Given the description of an element on the screen output the (x, y) to click on. 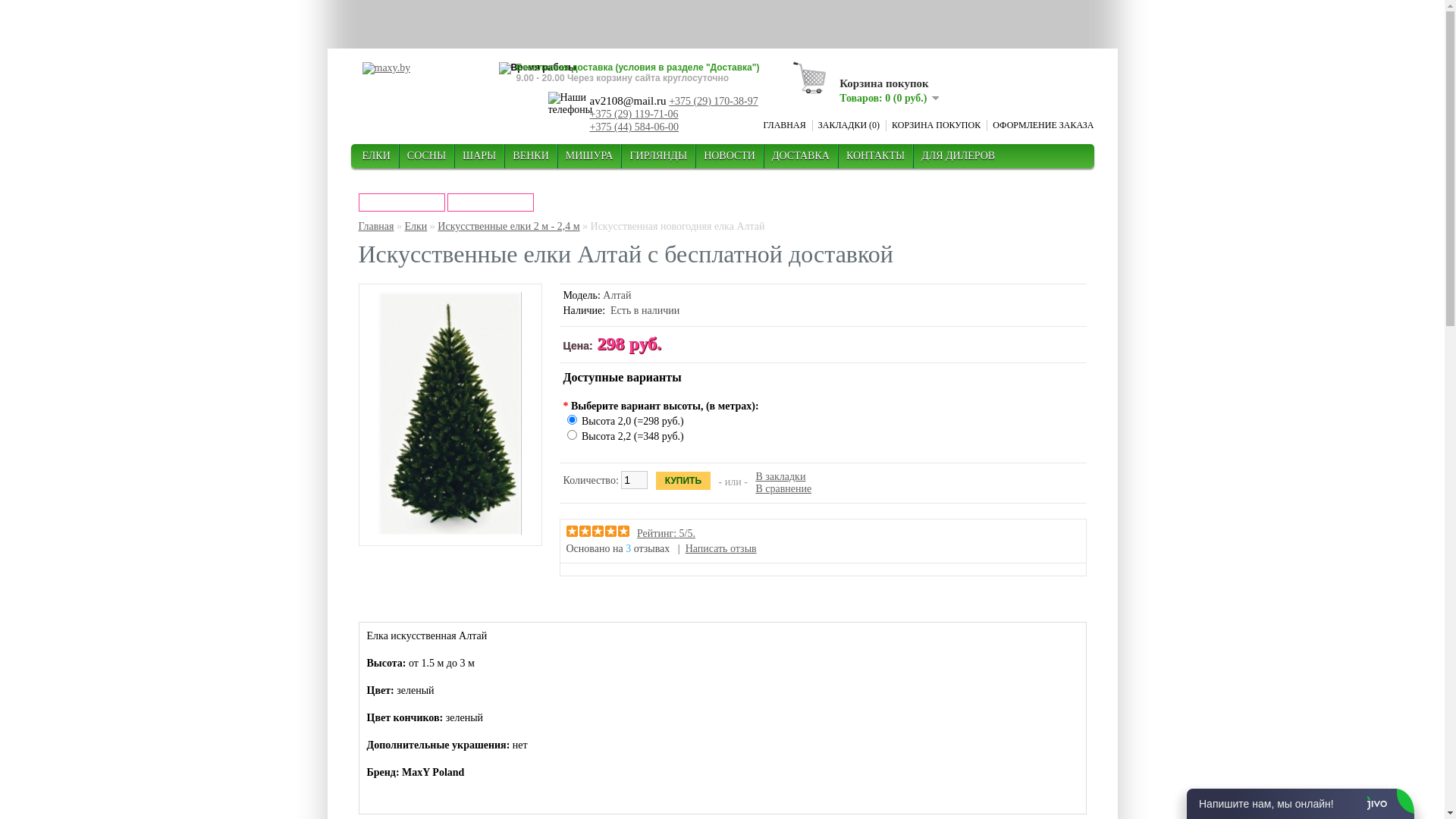
+375 (29) 119-71-06 Element type: text (633, 113)
+375 (29) 170-38-97 Element type: text (713, 100)
+375 (44) 584-06-00 Element type: text (634, 126)
maxy.by Element type: hover (386, 68)
